Given the description of an element on the screen output the (x, y) to click on. 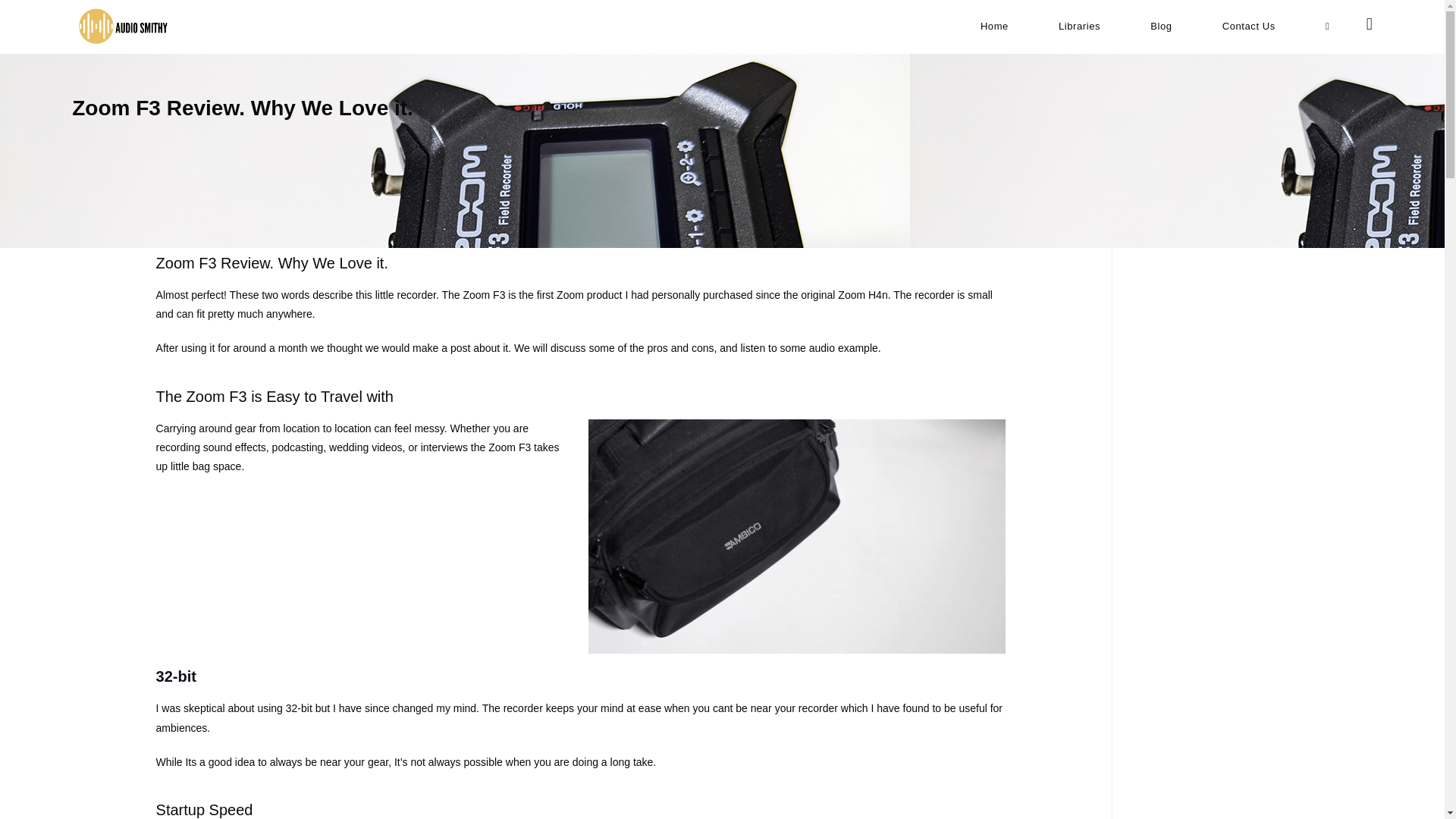
Home (994, 25)
Blog (1160, 25)
Libraries (1079, 25)
Contact Us (1248, 25)
